Given the description of an element on the screen output the (x, y) to click on. 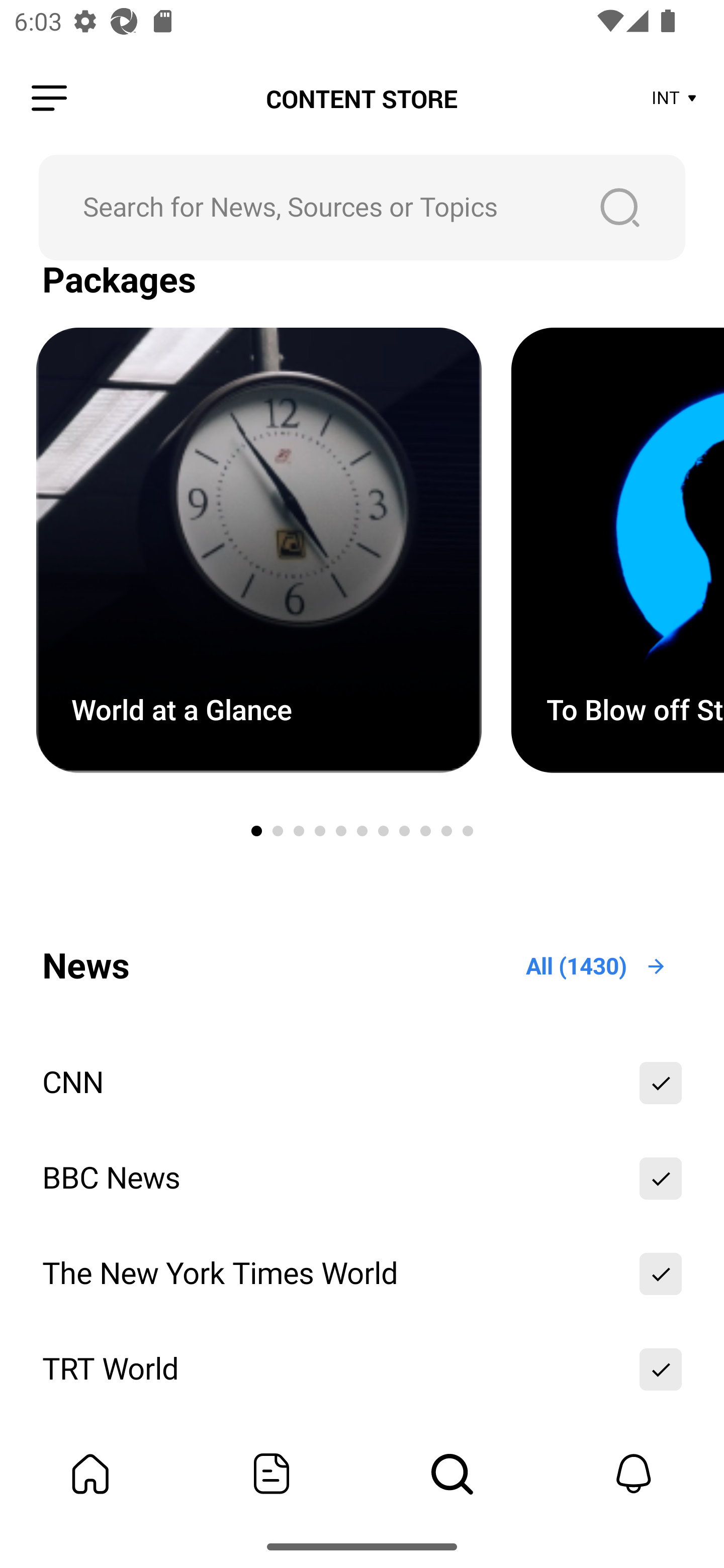
INT Store Area (674, 98)
Leading Icon (49, 98)
Search for News, Sources or Topics Search Button (361, 207)
All (1430) Open All Icon (596, 965)
CNN Add To My Bundle (361, 1083)
Add To My Bundle (660, 1083)
BBC News Add To My Bundle (361, 1178)
Add To My Bundle (660, 1178)
The New York Times World Add To My Bundle (361, 1273)
Add To My Bundle (660, 1273)
TRT World Add To My Bundle (361, 1368)
Add To My Bundle (660, 1368)
My Bundle (90, 1473)
Featured (271, 1473)
Notifications (633, 1473)
